Given the description of an element on the screen output the (x, y) to click on. 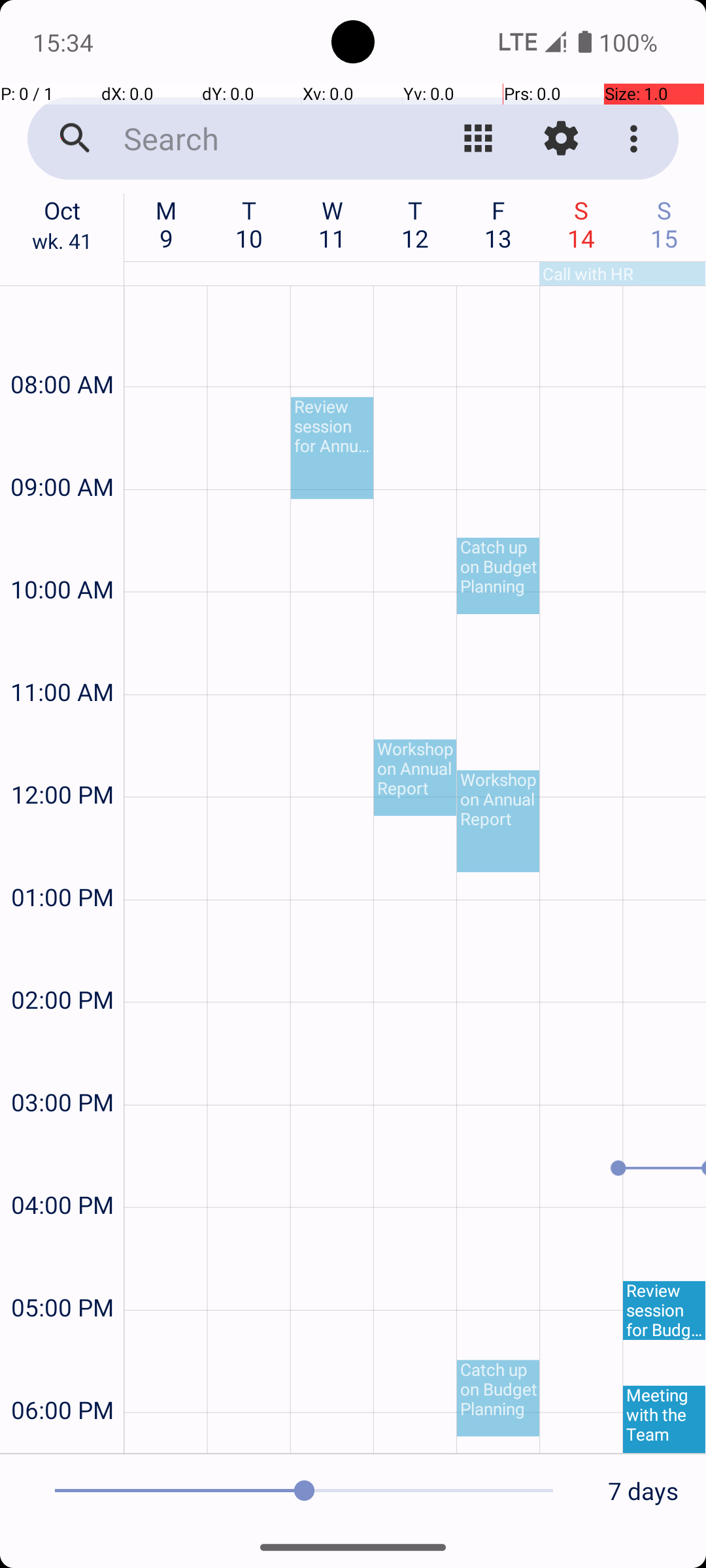
08:00 AM Element type: android.widget.TextView (62, 348)
09:00 AM Element type: android.widget.TextView (62, 451)
10:00 AM Element type: android.widget.TextView (62, 554)
11:00 AM Element type: android.widget.TextView (62, 656)
12:00 PM Element type: android.widget.TextView (62, 759)
01:00 PM Element type: android.widget.TextView (62, 861)
02:00 PM Element type: android.widget.TextView (62, 964)
03:00 PM Element type: android.widget.TextView (62, 1066)
04:00 PM Element type: android.widget.TextView (62, 1169)
05:00 PM Element type: android.widget.TextView (62, 1272)
06:00 PM Element type: android.widget.TextView (62, 1374)
07:00 PM Element type: android.widget.TextView (62, 1440)
